Given the description of an element on the screen output the (x, y) to click on. 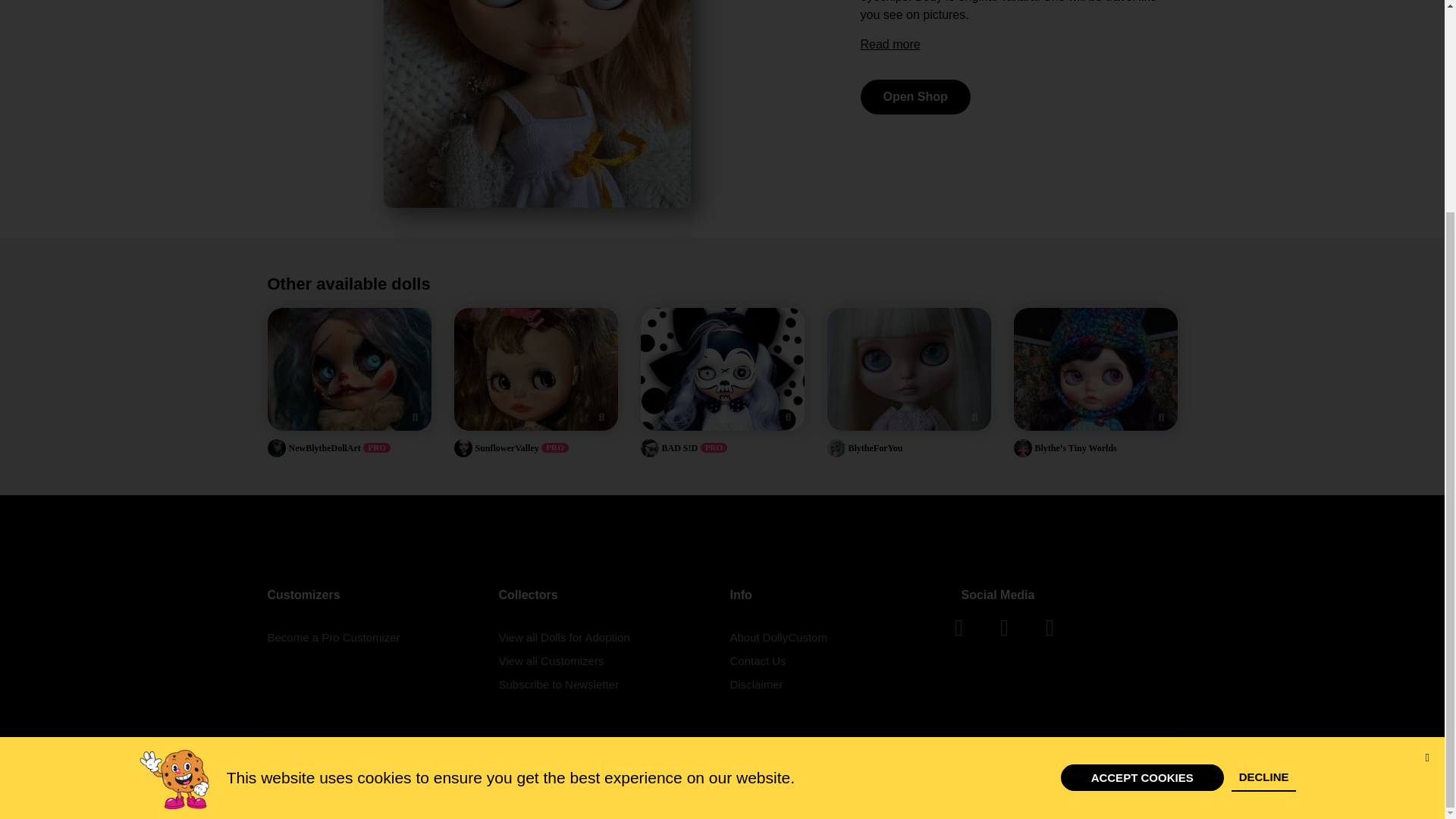
Show doll info (787, 416)
Show doll info (601, 416)
Show doll info (1160, 416)
Show doll info (414, 416)
Show doll info (973, 416)
